Given the description of an element on the screen output the (x, y) to click on. 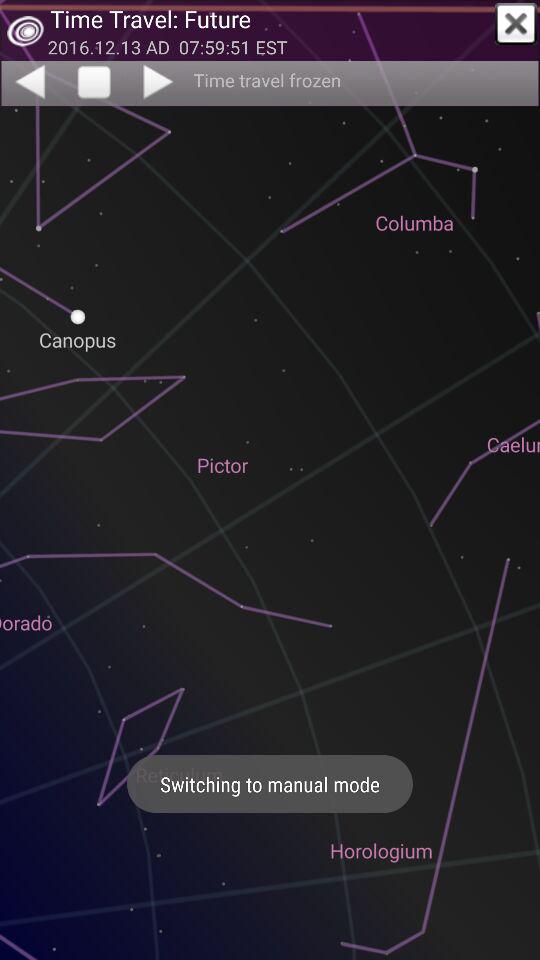
stop and on button (94, 83)
